Given the description of an element on the screen output the (x, y) to click on. 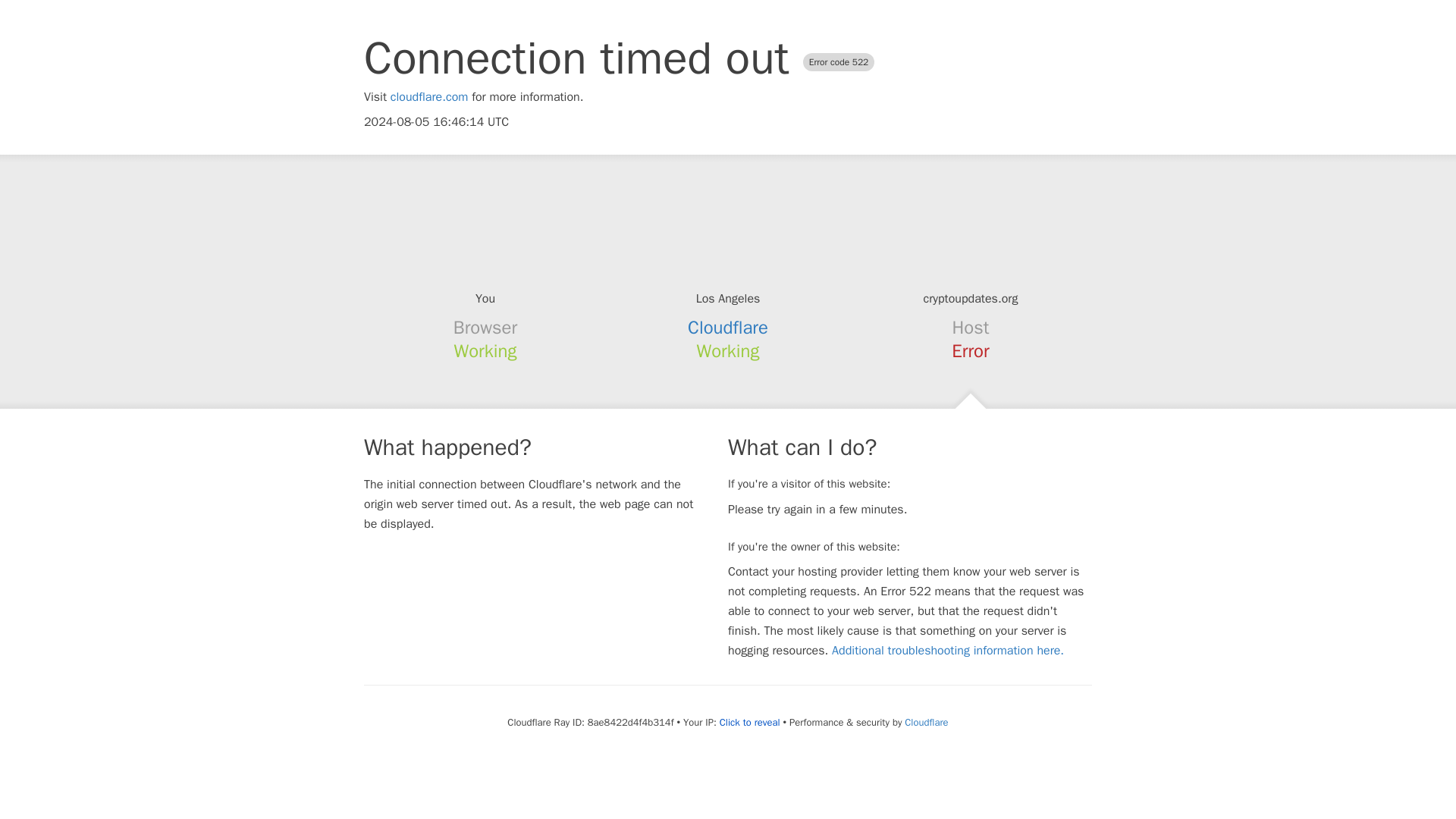
Cloudflare (727, 327)
Cloudflare (925, 721)
cloudflare.com (429, 96)
Additional troubleshooting information here. (947, 650)
Click to reveal (749, 722)
